Given the description of an element on the screen output the (x, y) to click on. 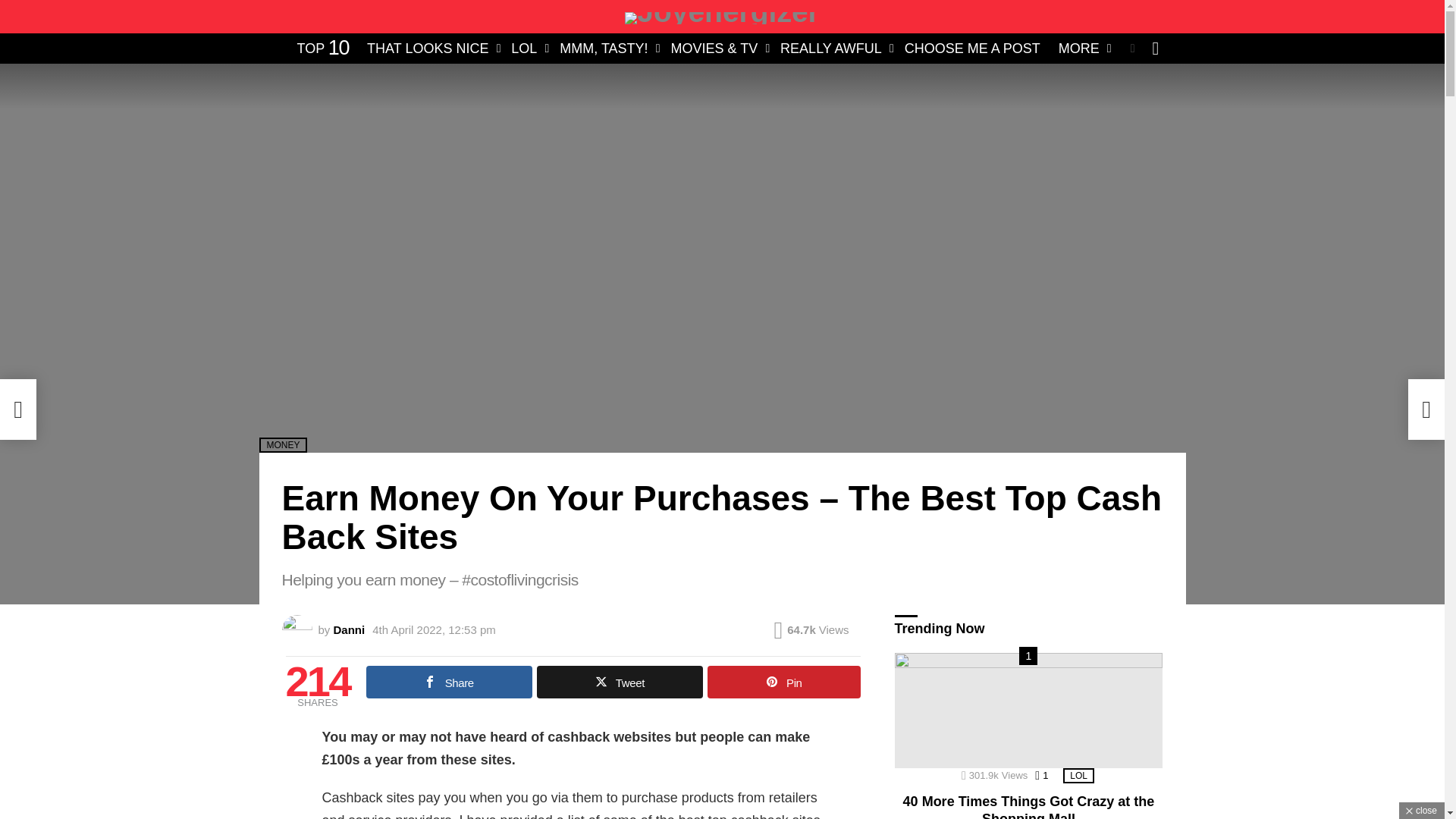
THAT LOOKS NICE (429, 47)
TOP 10 (322, 47)
REALLY AWFUL (833, 47)
LOL (525, 47)
MMM, TASTY! (605, 47)
